Given the description of an element on the screen output the (x, y) to click on. 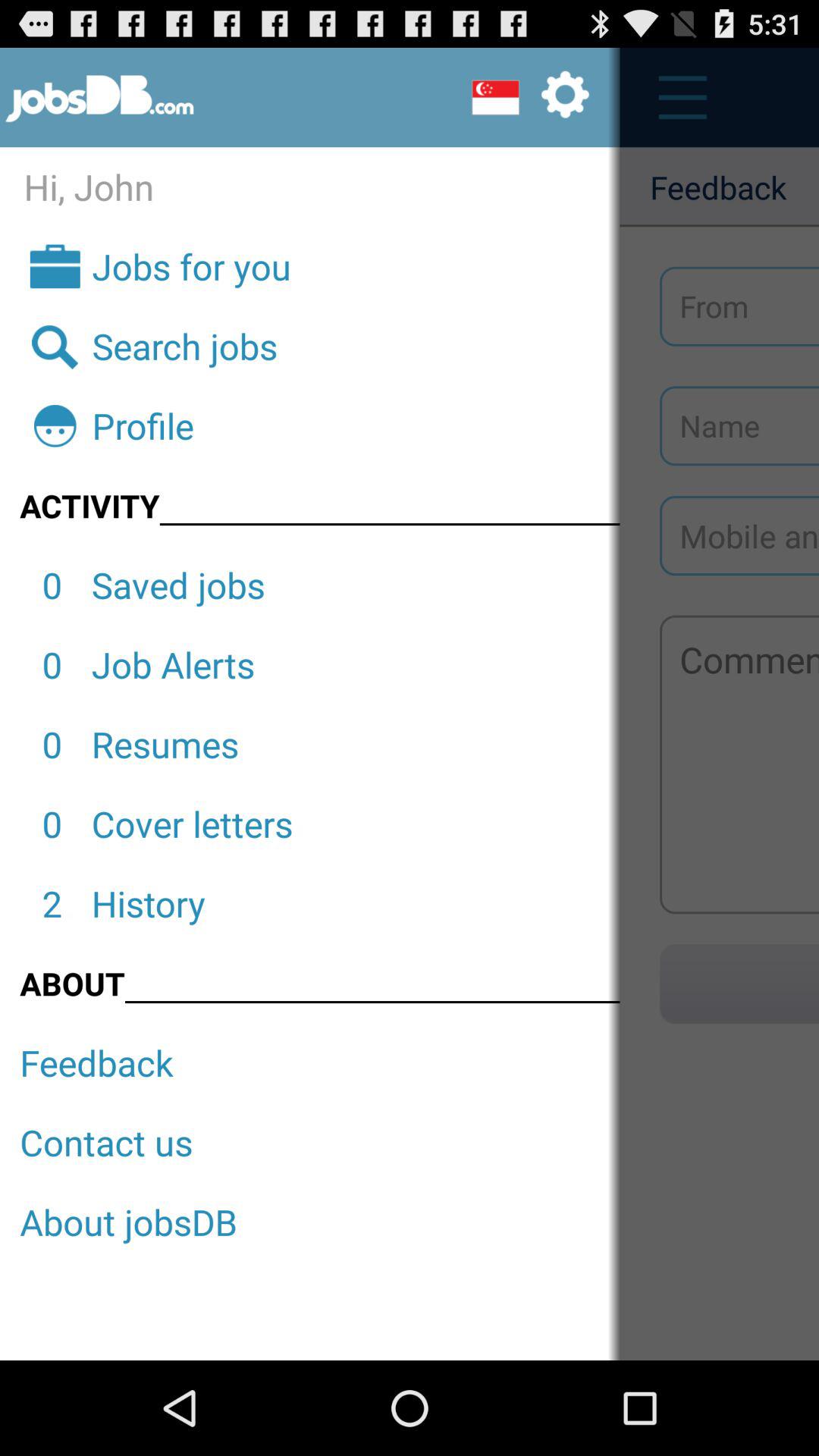
share the opinion (739, 764)
